Given the description of an element on the screen output the (x, y) to click on. 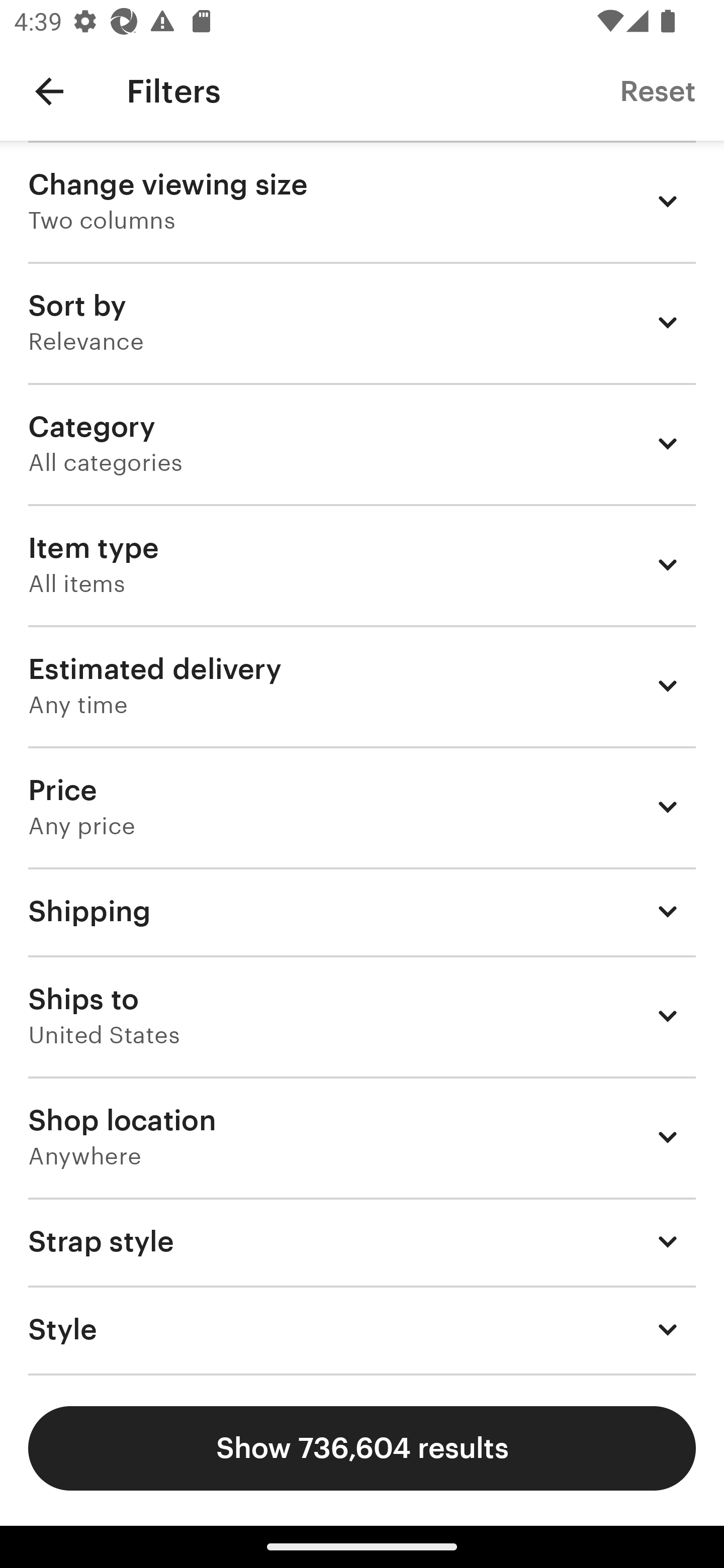
Navigate up (49, 91)
Reset (657, 90)
Change viewing size Two columns (362, 201)
Sort by Relevance (362, 321)
Category All categories (362, 442)
Item type All items (362, 564)
Estimated delivery Any time (362, 685)
Price Any price (362, 806)
Shipping (362, 910)
Ships to United States (362, 1015)
Shop location Anywhere (362, 1137)
Strap style (362, 1241)
Style (362, 1329)
Show 736,604 results Show results (361, 1448)
